Given the description of an element on the screen output the (x, y) to click on. 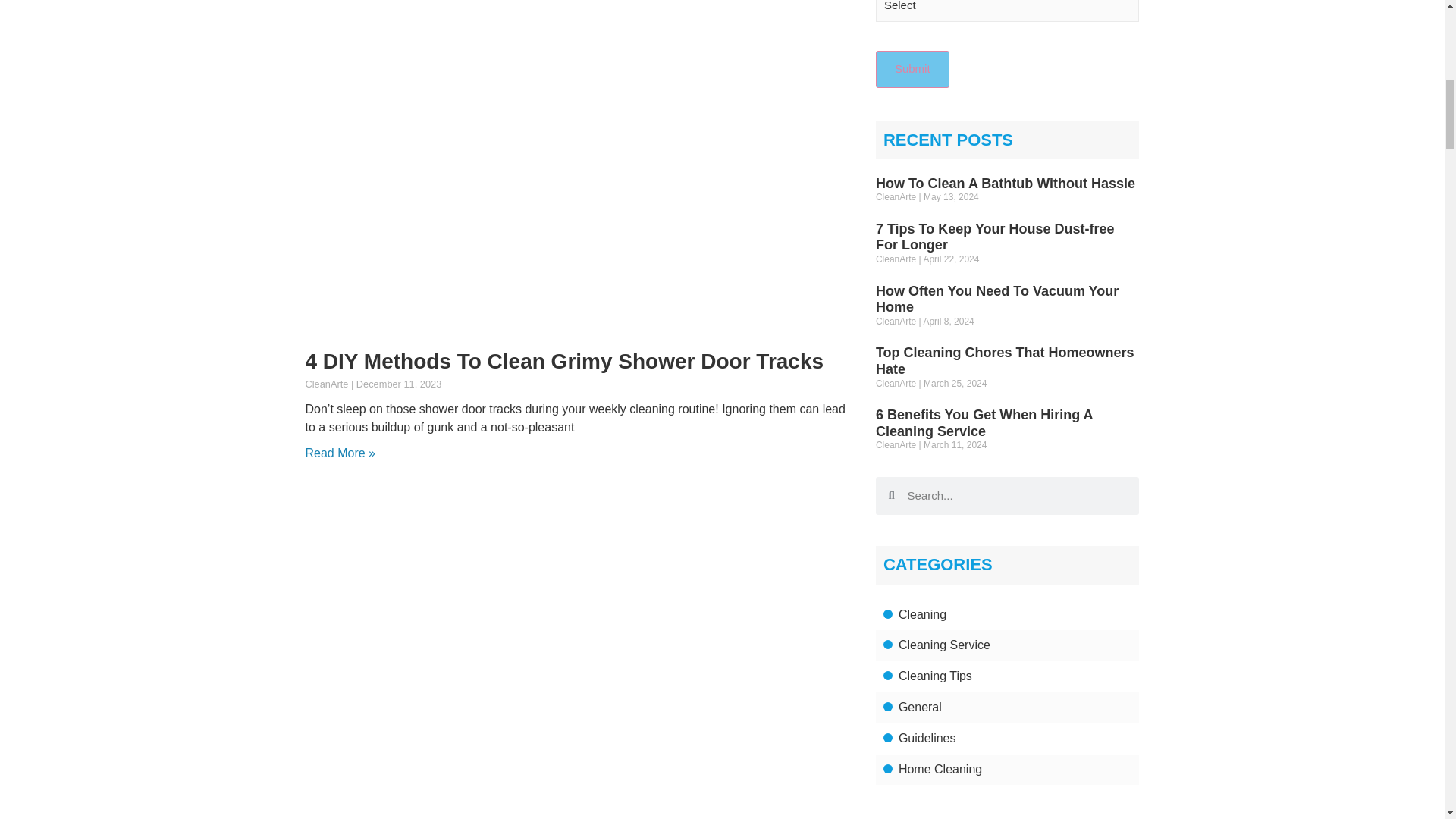
Submit (912, 68)
